Given the description of an element on the screen output the (x, y) to click on. 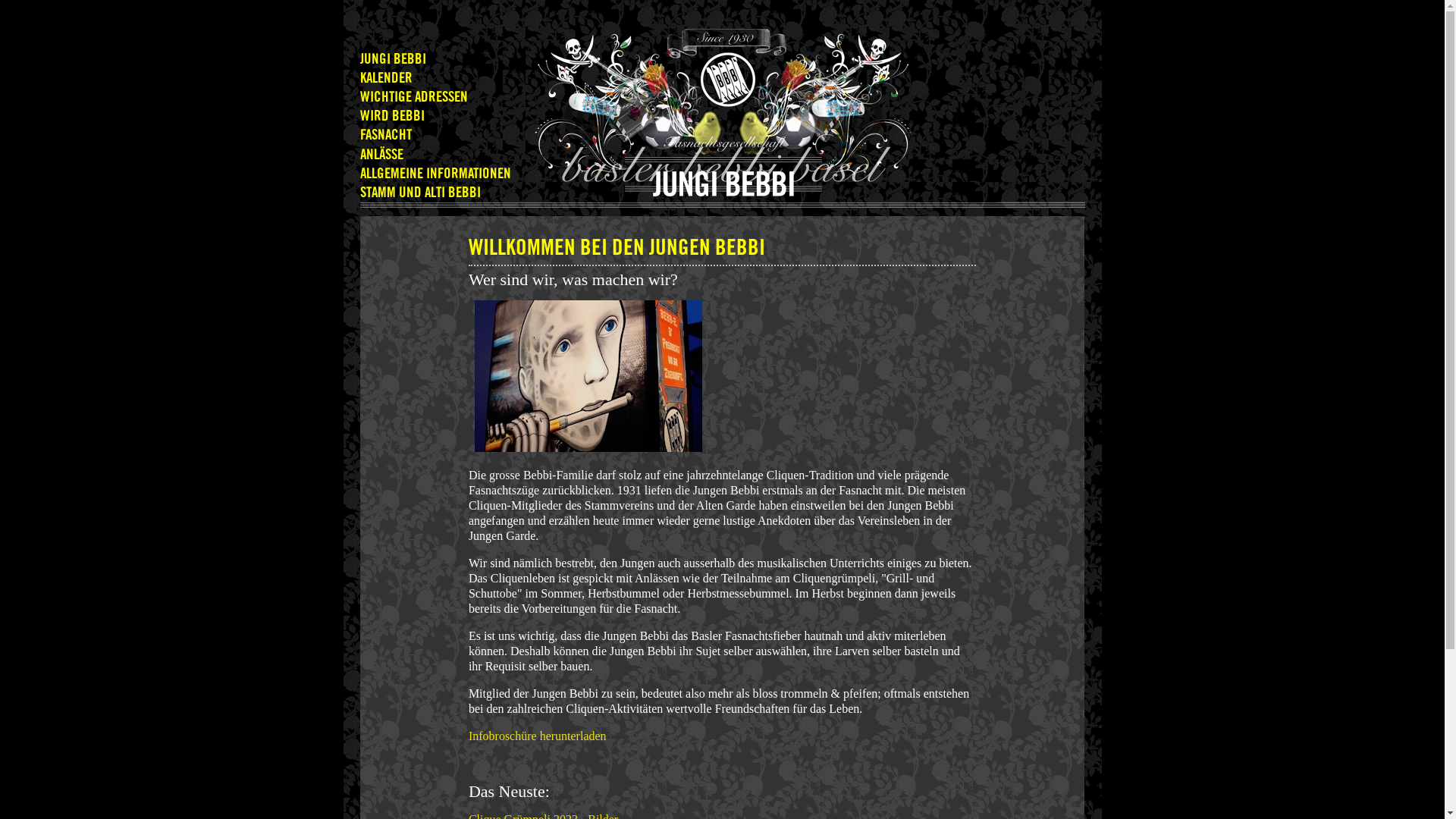
JUNGI BEBBI Element type: text (392, 59)
ALLGEMEINE INFORMATIONEN Element type: text (434, 173)
STAMM UND ALTI BEBBI Element type: text (419, 192)
WICHTIGE ADRESSEN Element type: text (413, 97)
WIRD BEBBI Element type: text (391, 116)
KALENDER Element type: text (385, 78)
FASNACHT Element type: text (385, 135)
